Given the description of an element on the screen output the (x, y) to click on. 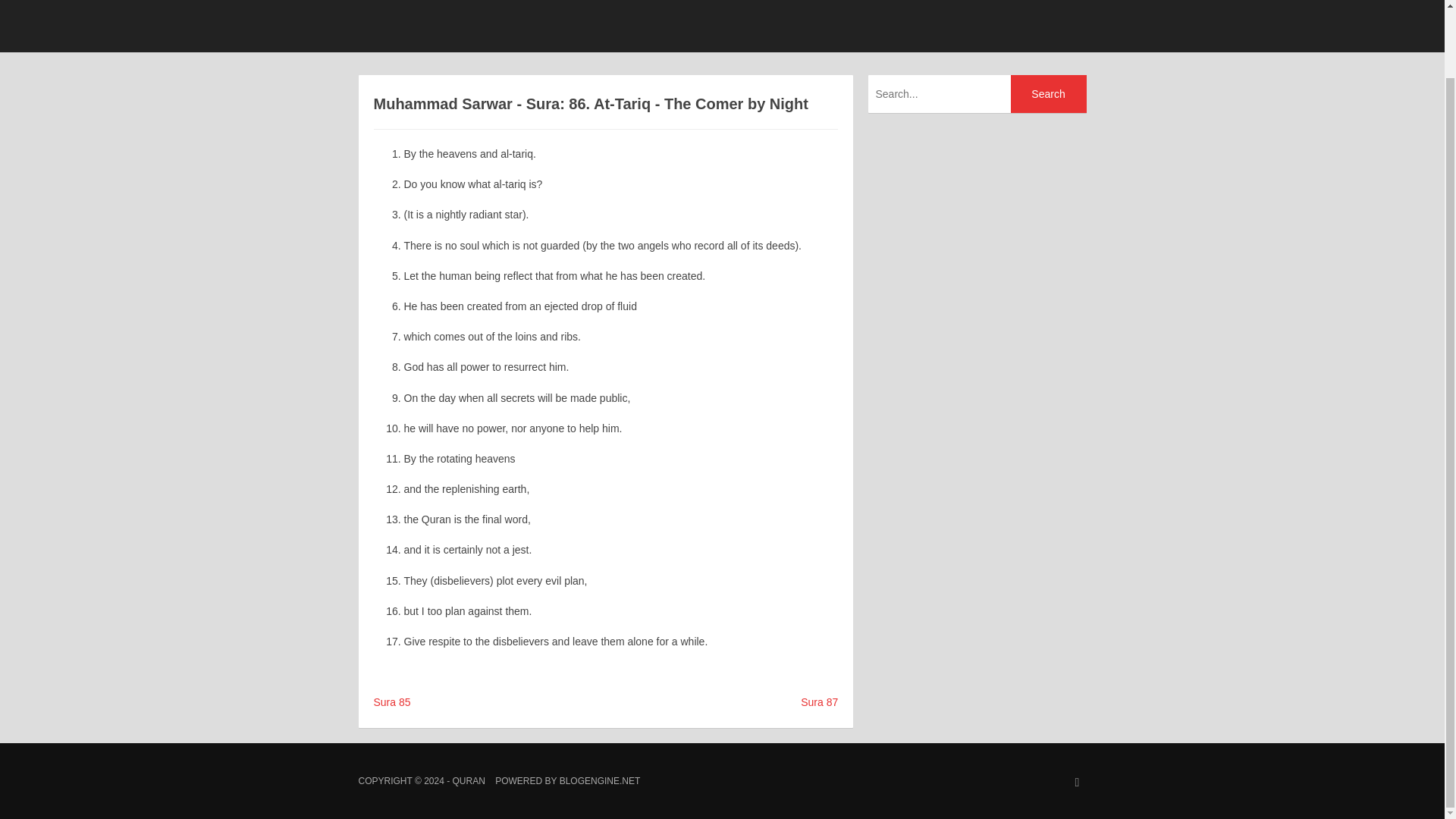
BlogEngine.NET 3.3.5.0 (599, 780)
Sura 87 (819, 702)
BLOGENGINE.NET (599, 780)
Search (1048, 94)
Sura 85 (391, 702)
QURAN (467, 780)
